Given the description of an element on the screen output the (x, y) to click on. 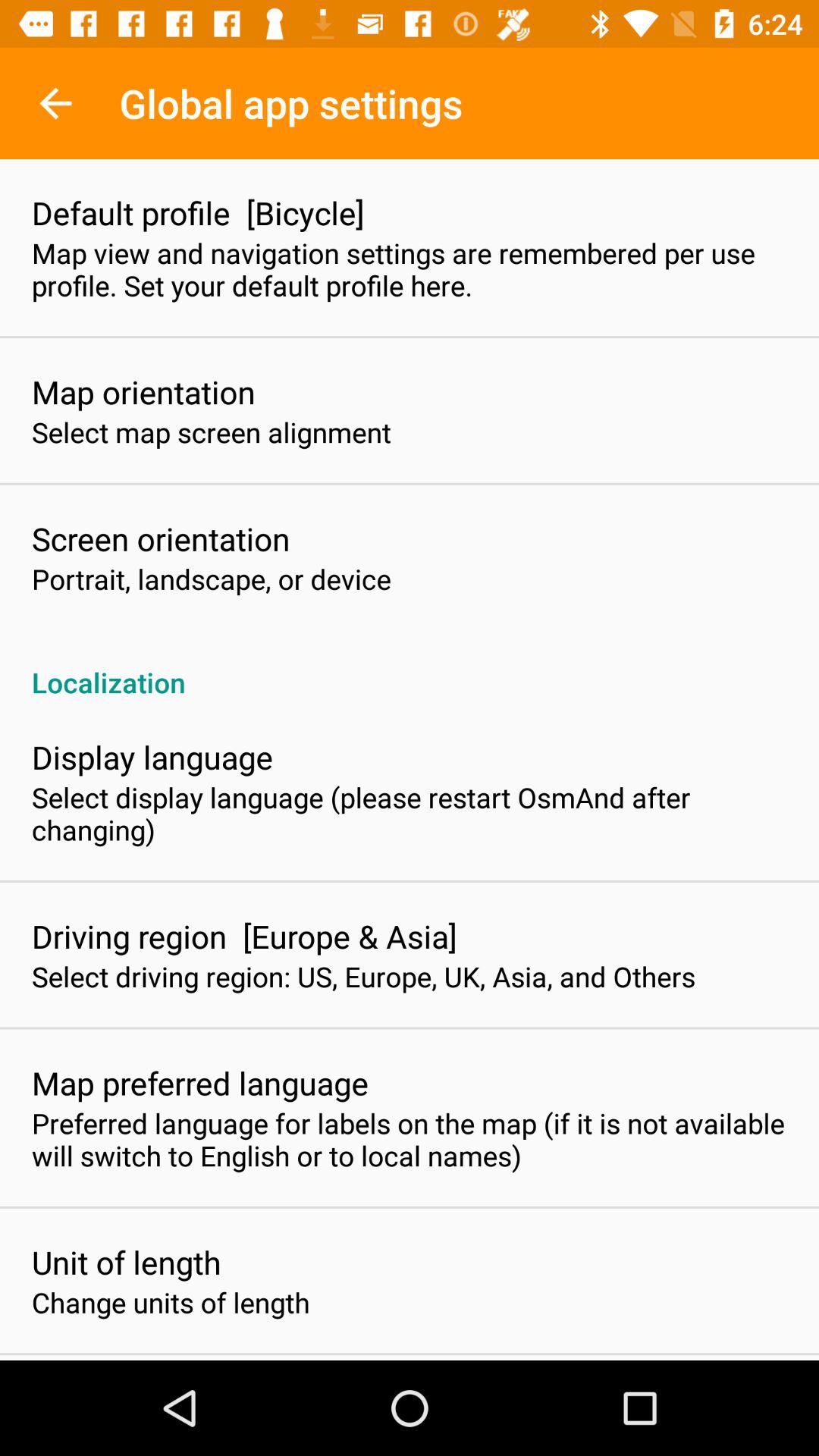
launch screen orientation (160, 538)
